Given the description of an element on the screen output the (x, y) to click on. 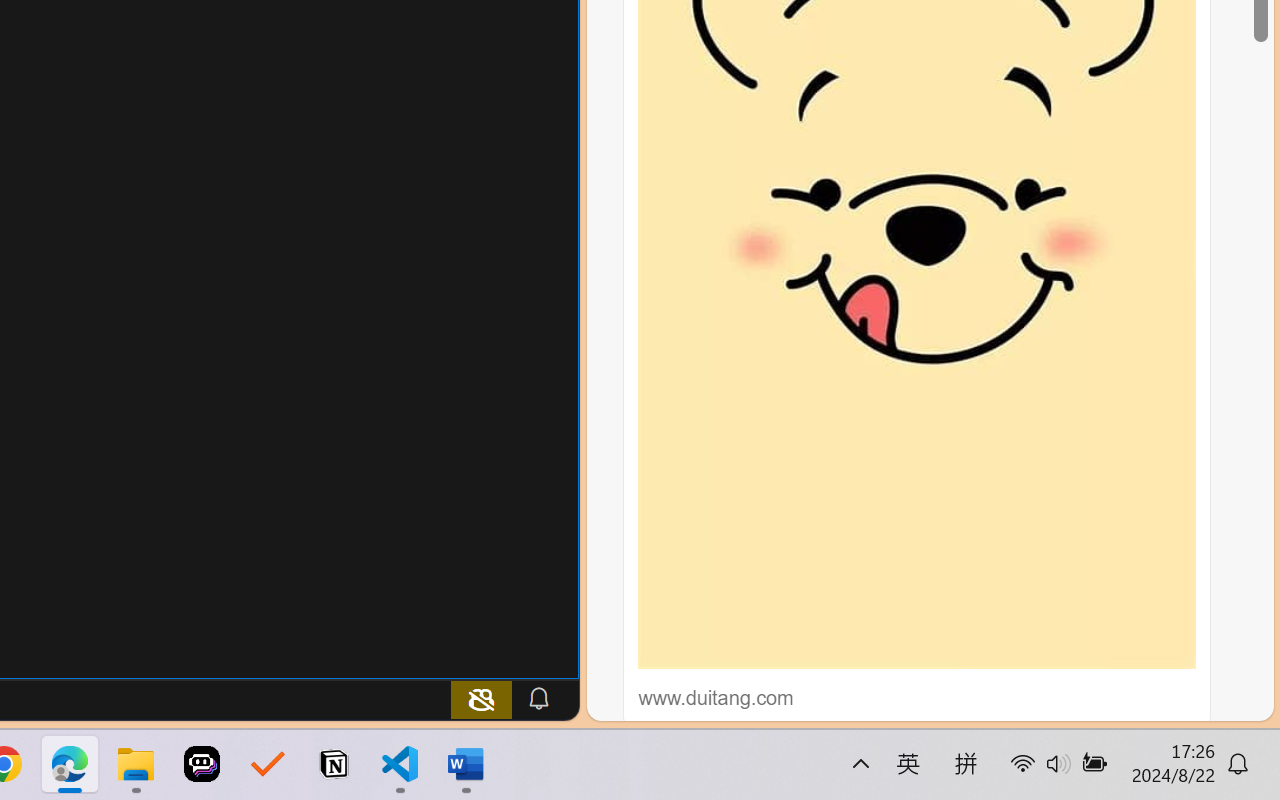
Zoom 25% (1236, 743)
